Given the description of an element on the screen output the (x, y) to click on. 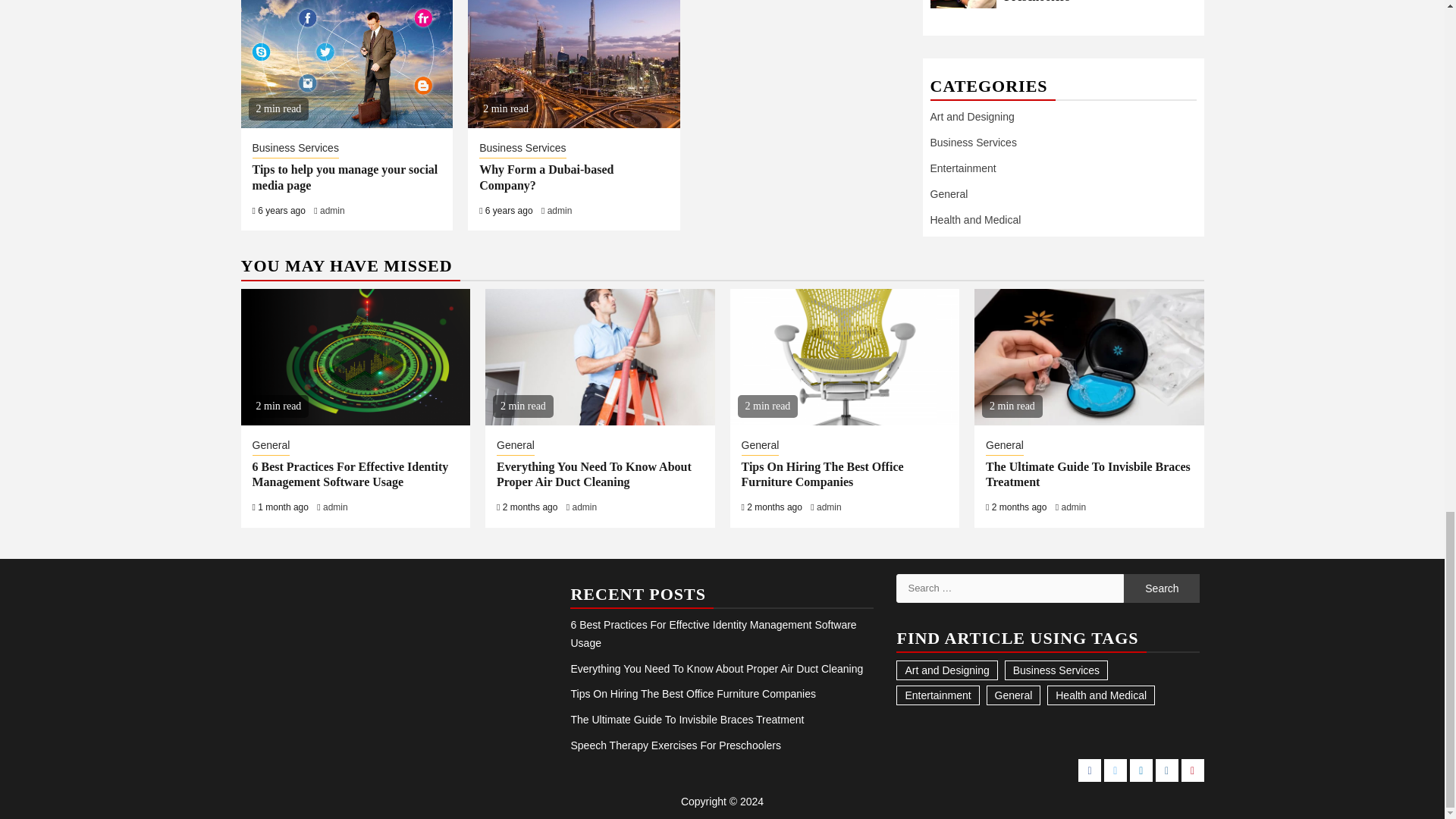
Why Form a Dubai-based Company? (545, 176)
admin (559, 210)
Search (1161, 588)
Business Services (522, 149)
Search (1161, 588)
admin (332, 210)
Business Services (294, 149)
Tips to help you manage your social media page (344, 176)
